Given the description of an element on the screen output the (x, y) to click on. 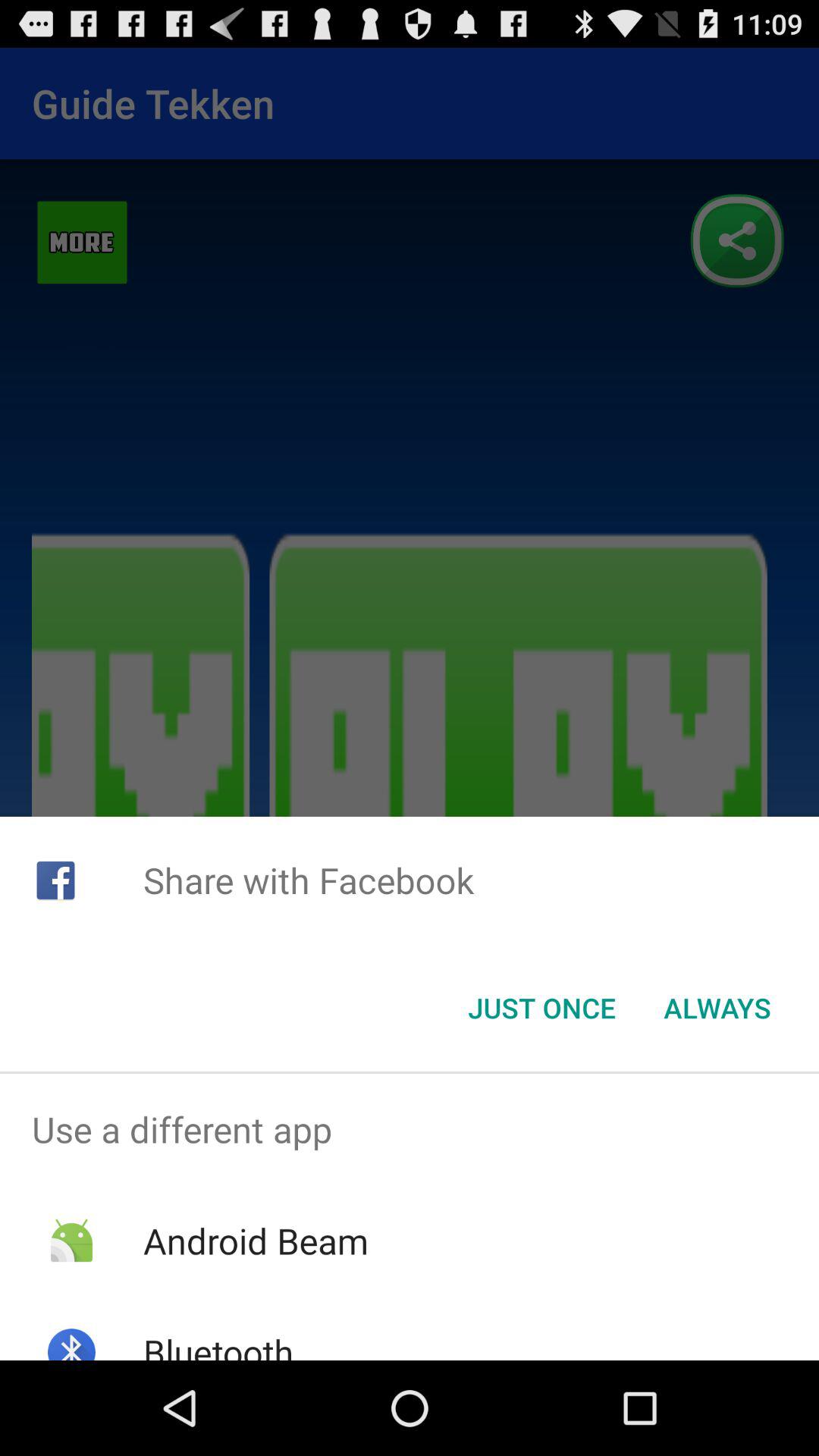
turn on app below android beam (218, 1344)
